Given the description of an element on the screen output the (x, y) to click on. 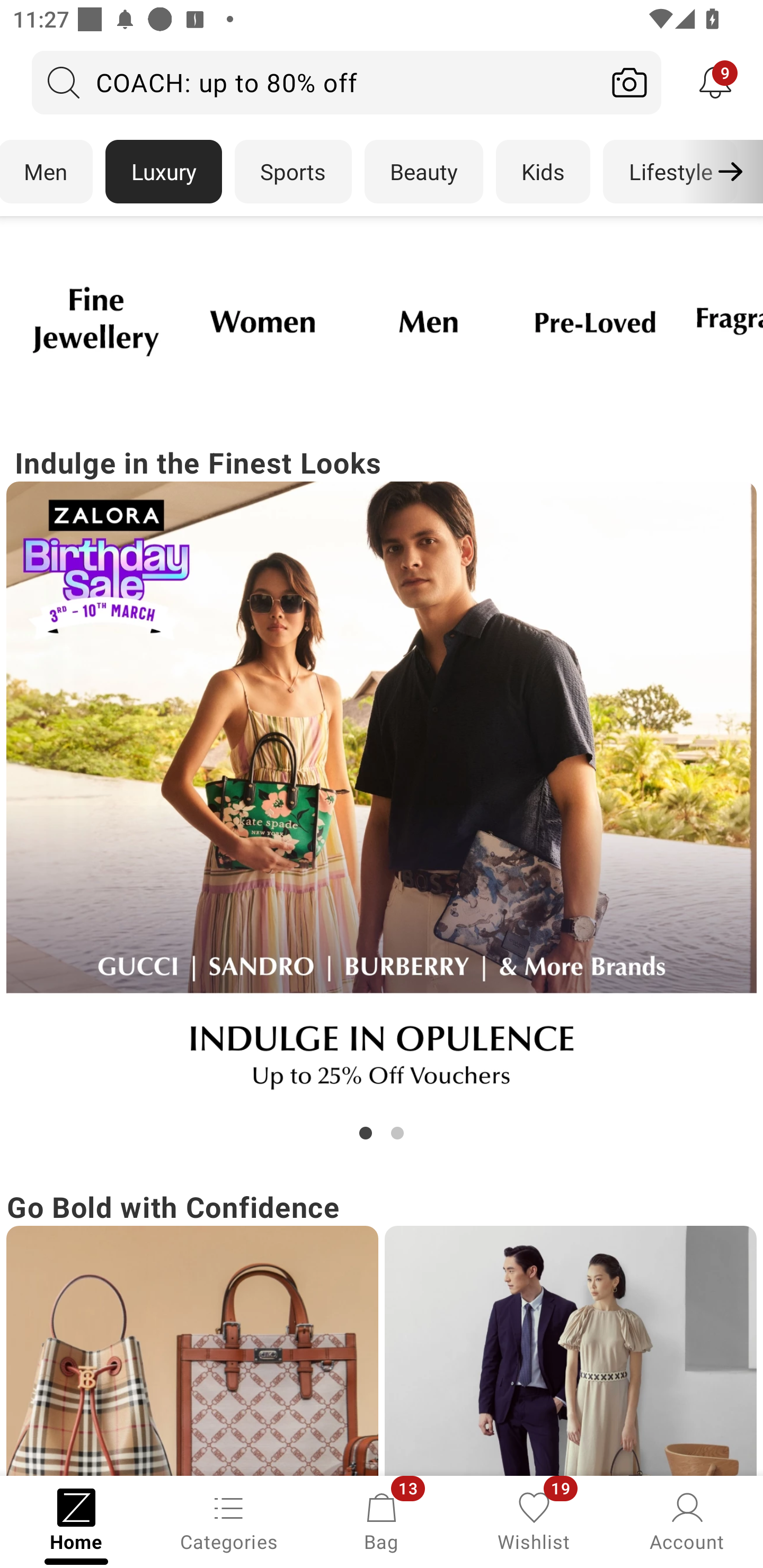
COACH: up to 80% off (314, 82)
Men (46, 171)
Luxury (163, 171)
Sports (293, 171)
Beauty (423, 171)
Kids (542, 171)
Lifestyle (669, 171)
Campaign banner (95, 321)
Campaign banner (261, 321)
Campaign banner (428, 321)
Campaign banner (594, 321)
 Indulge in the Finest Looks Campaign banner (381, 792)
Campaign banner (381, 797)
Campaign banner (192, 1350)
Campaign banner (570, 1350)
Categories (228, 1519)
Bag, 13 new notifications Bag (381, 1519)
Wishlist, 19 new notifications Wishlist (533, 1519)
Account (686, 1519)
